Given the description of an element on the screen output the (x, y) to click on. 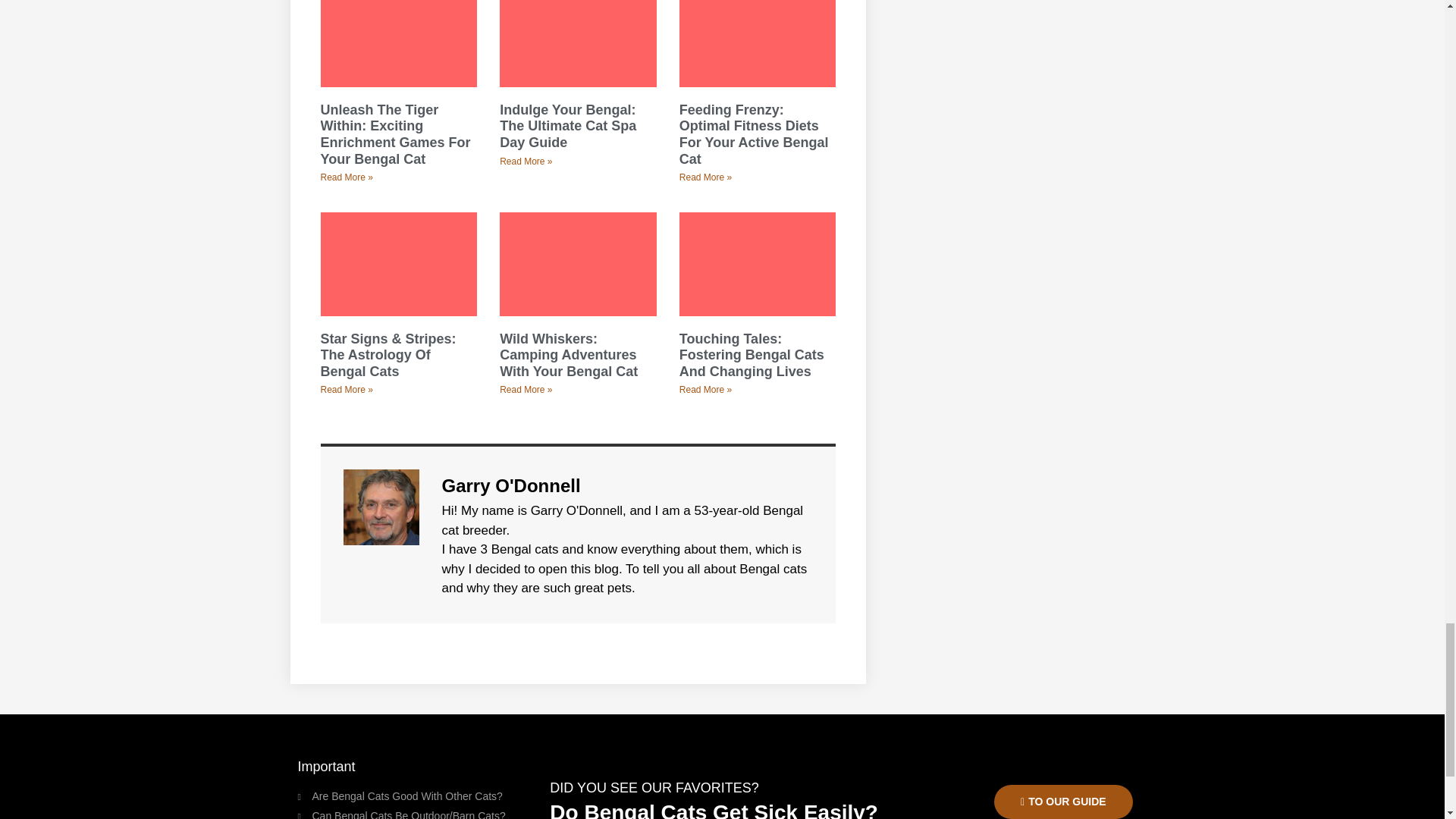
Wild Whiskers: Camping Adventures With Your Bengal Cat (568, 355)
Touching Tales: Fostering Bengal Cats And Changing Lives (751, 355)
Indulge Your Bengal: The Ultimate Cat Spa Day Guide (567, 125)
